Given the description of an element on the screen output the (x, y) to click on. 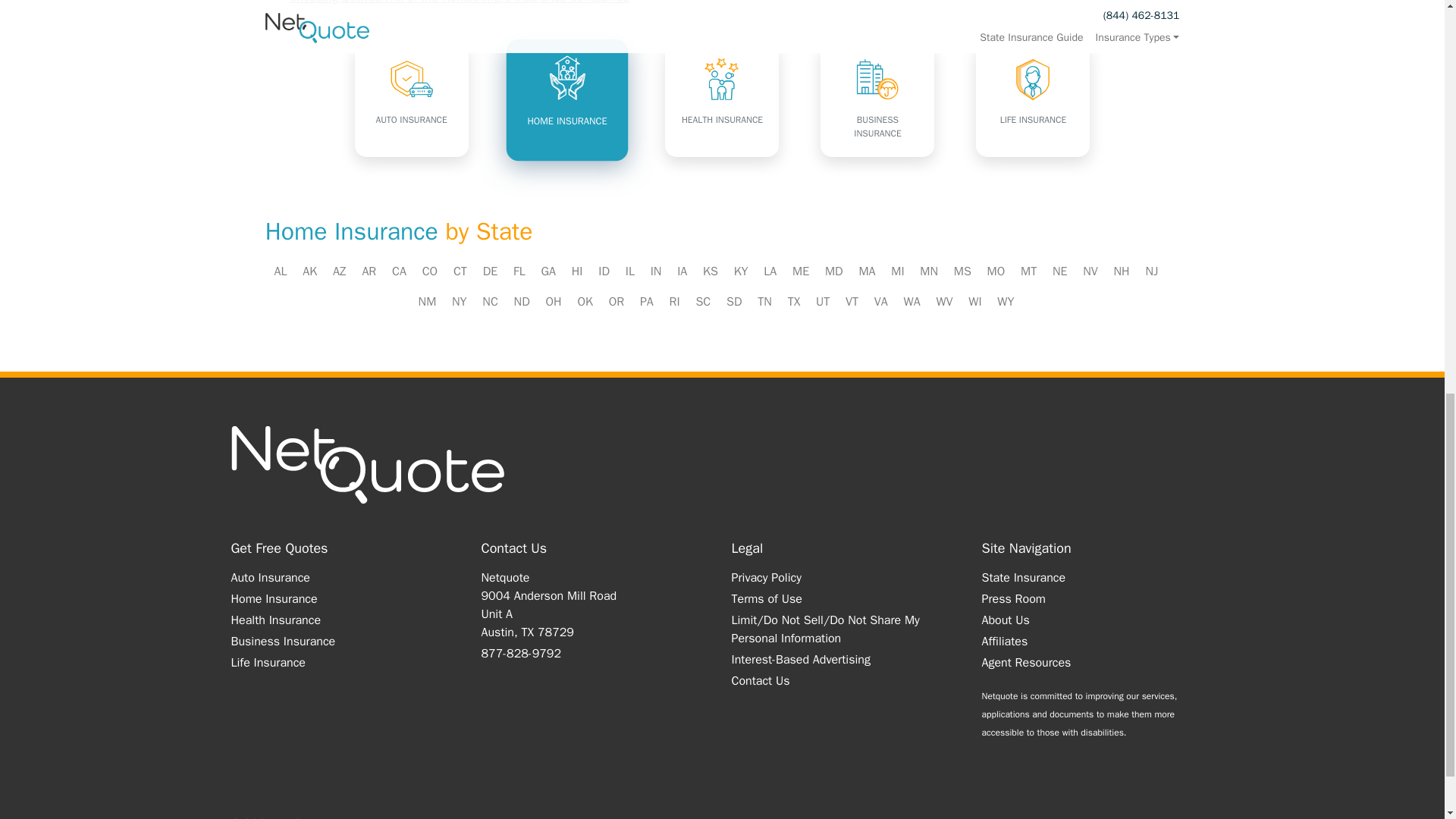
HEALTH INSURANCE (721, 100)
Choosing Between All of the Homeowners Insurance Companies (458, 2)
BUSINESS INSURANCE (877, 100)
LIFE INSURANCE (1032, 100)
HOME INSURANCE (562, 95)
AUTO INSURANCE (411, 100)
